Given the description of an element on the screen output the (x, y) to click on. 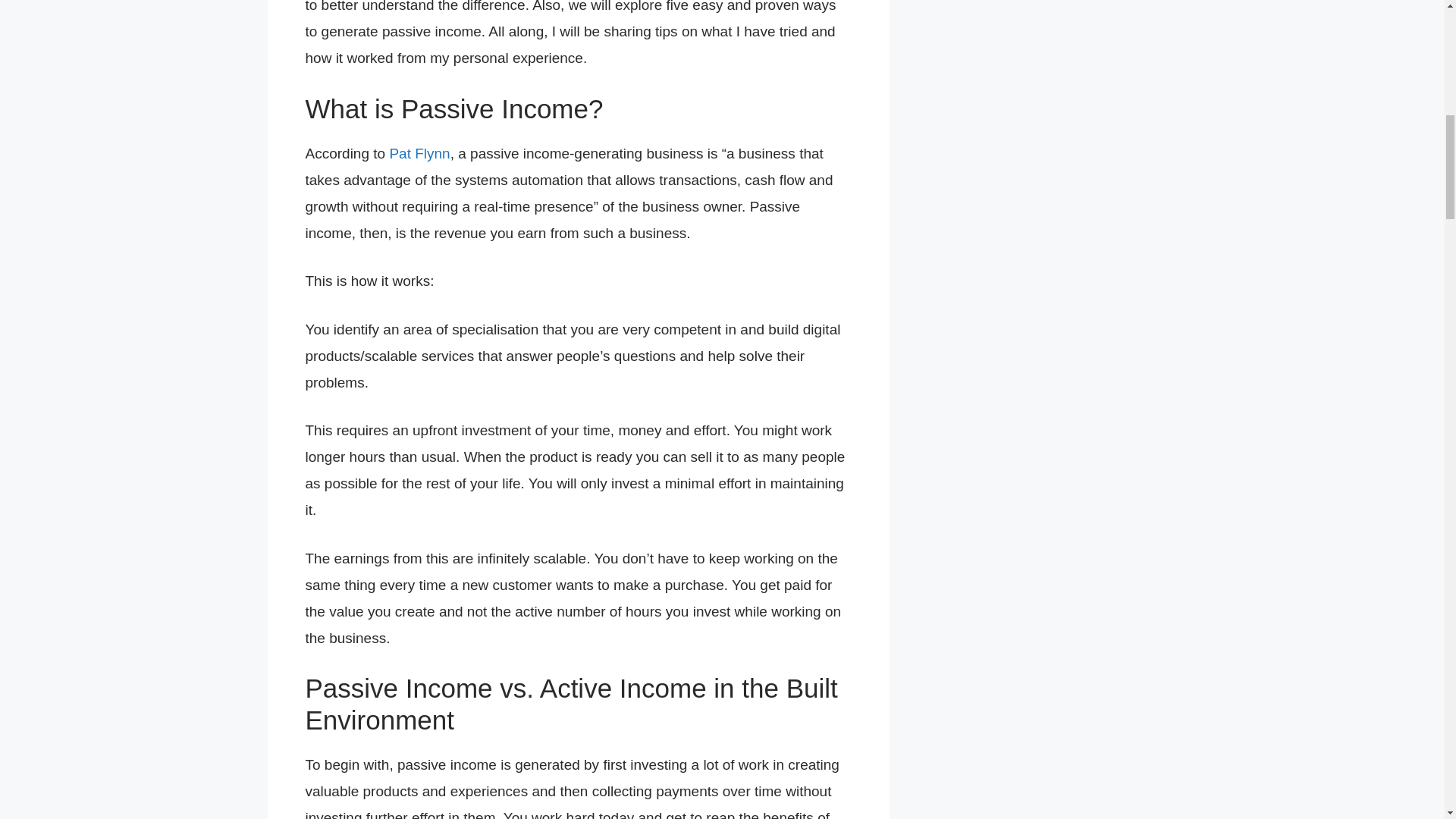
Pat Flynn (418, 153)
